Given the description of an element on the screen output the (x, y) to click on. 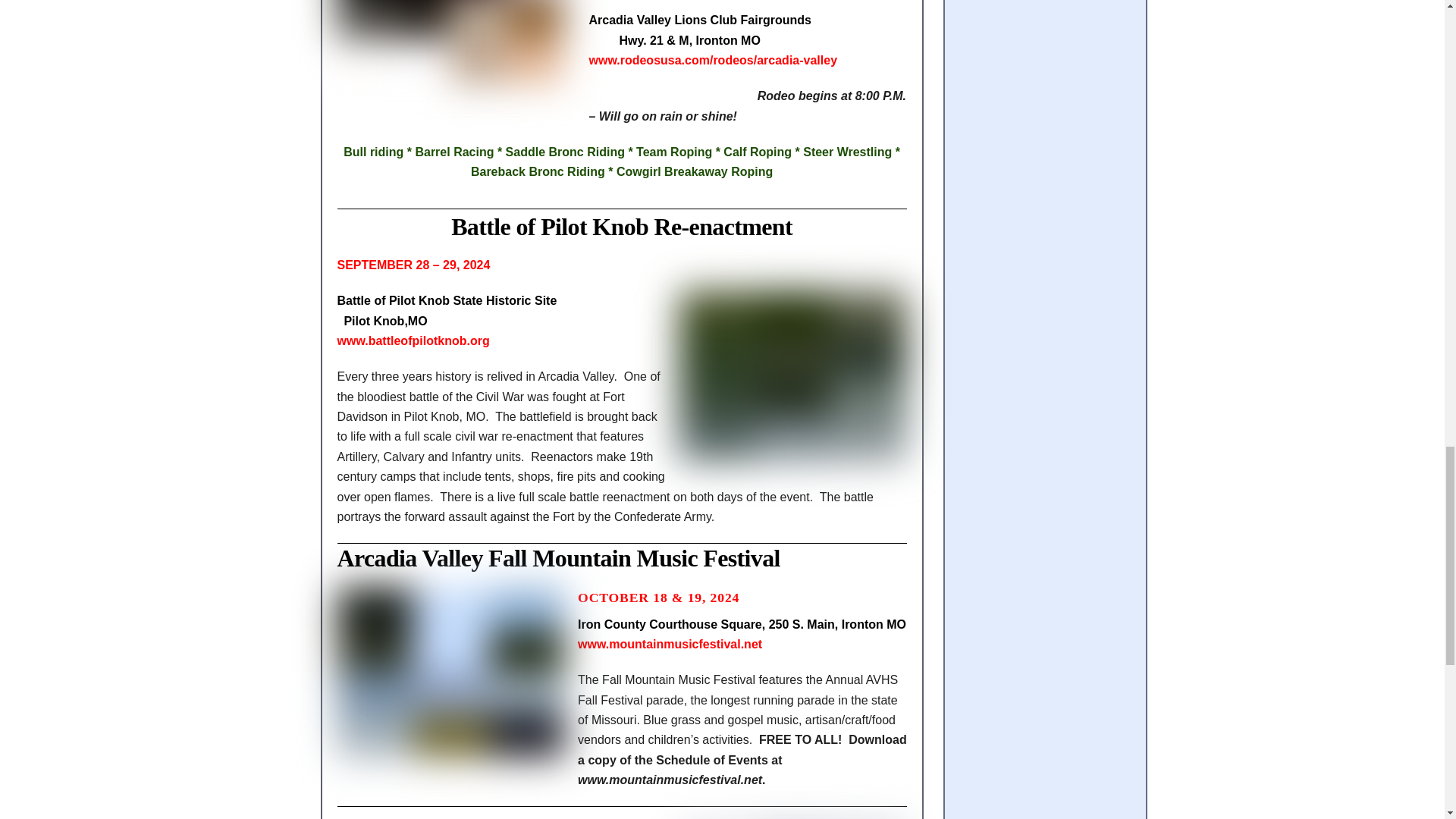
www.mountainmusicfestival.net (669, 644)
